Given the description of an element on the screen output the (x, y) to click on. 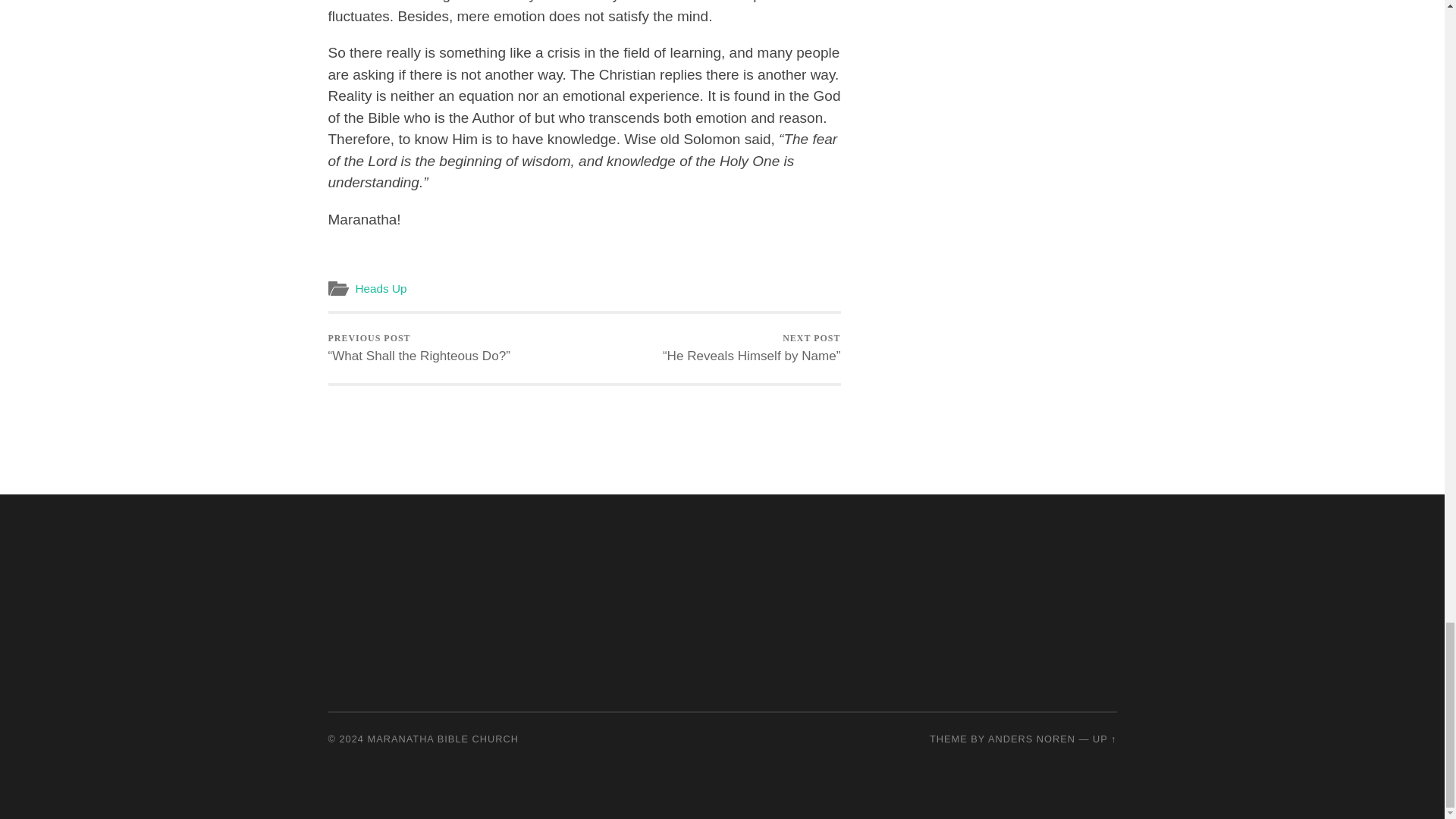
MARANATHA BIBLE CHURCH (443, 738)
Heads Up (380, 287)
To the top (1104, 738)
ANDERS NOREN (1031, 738)
